Given the description of an element on the screen output the (x, y) to click on. 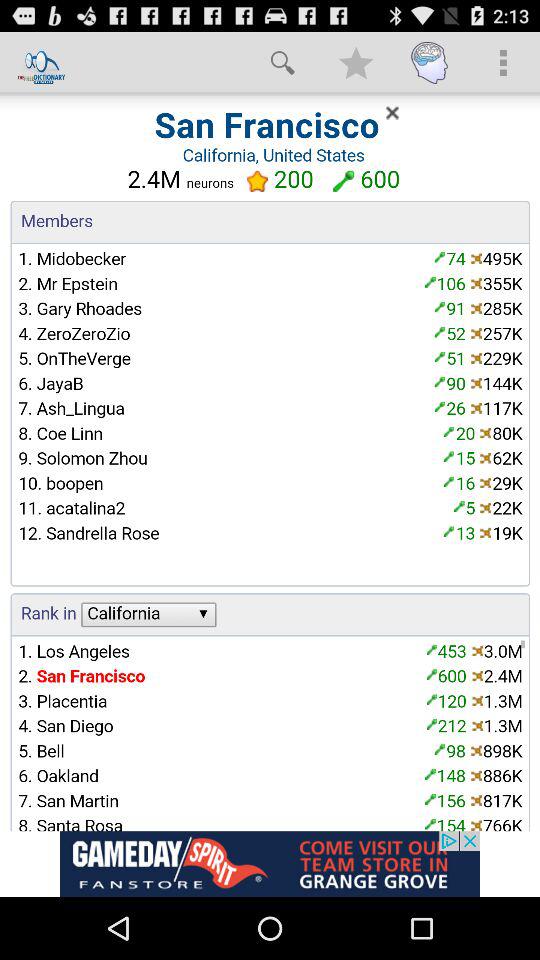
members of california (270, 462)
